Given the description of an element on the screen output the (x, y) to click on. 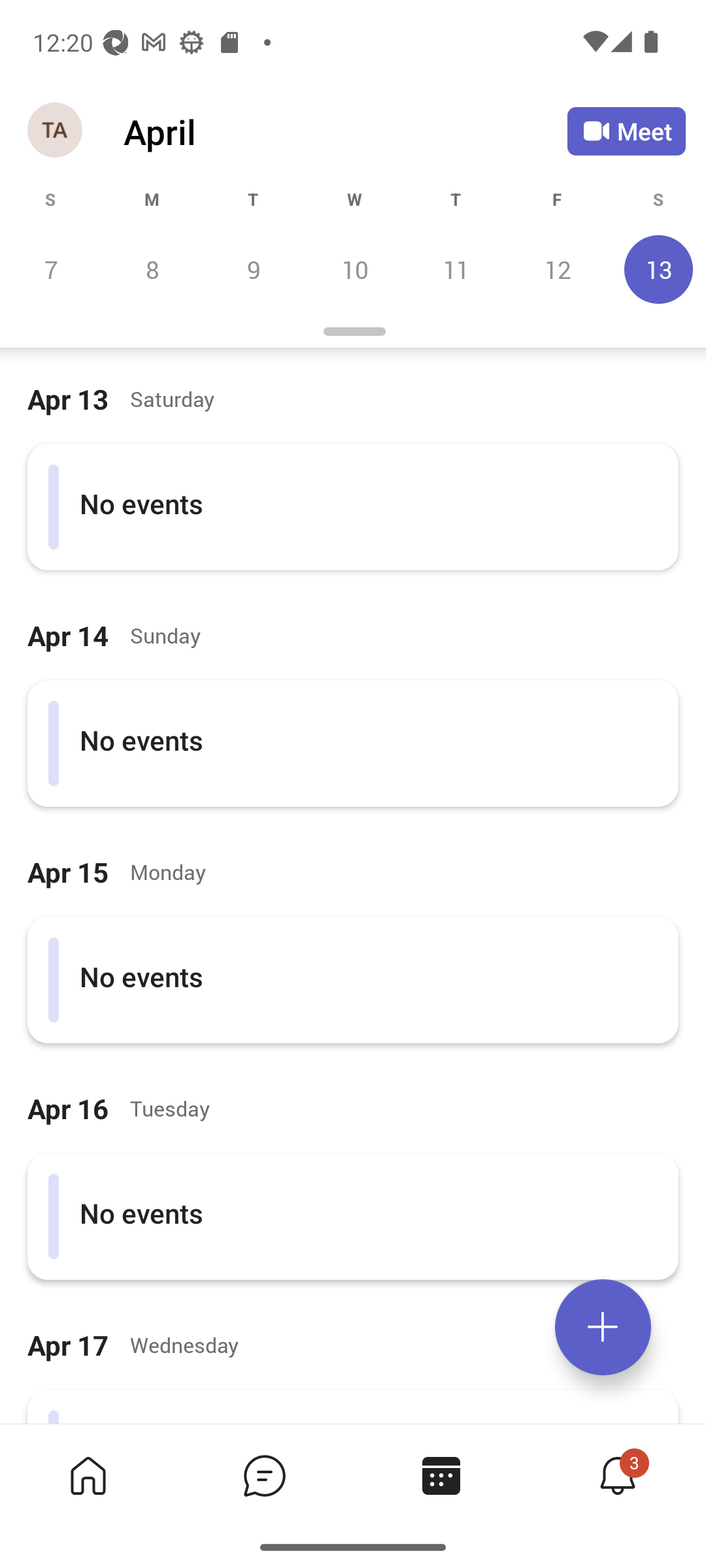
Navigation (56, 130)
Meet Meet now or join with an ID (626, 130)
April April Calendar Agenda View (345, 131)
Sunday, April 7 7 (50, 269)
Monday, April 8 8 (151, 269)
Tuesday, April 9 9 (253, 269)
Wednesday, April 10 10 (354, 269)
Thursday, April 11 11 (455, 269)
Friday, April 12 12 (556, 269)
Saturday, April 13, Selected 13 (656, 269)
Expand meetings menu (602, 1327)
Home tab,1 of 4, not selected (88, 1475)
Chat tab,2 of 4, not selected (264, 1475)
Calendar tab, 3 of 4 (441, 1475)
Activity tab,4 of 4, not selected, 3 new 3 (617, 1475)
